Given the description of an element on the screen output the (x, y) to click on. 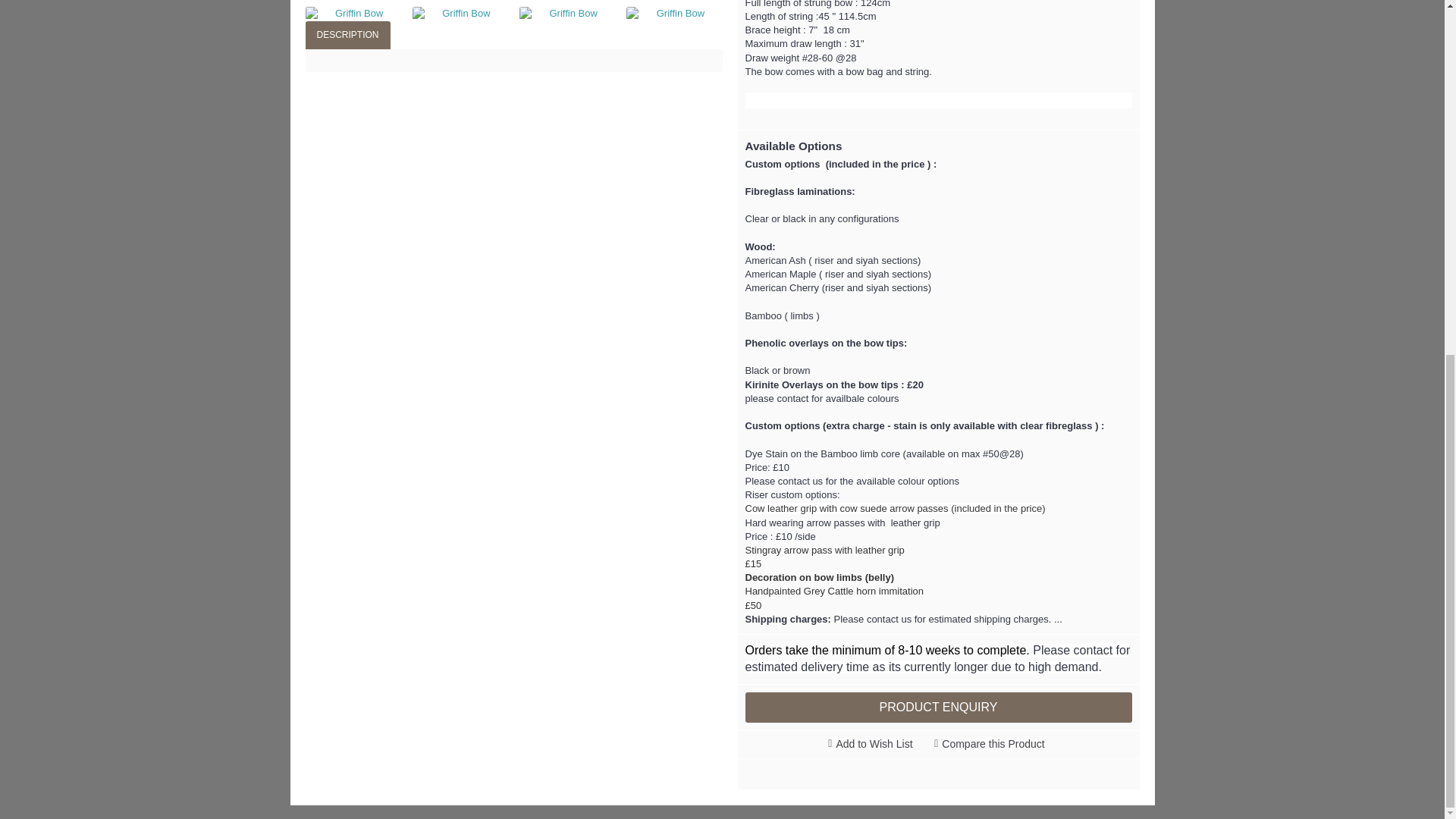
Griffin Bow (566, 13)
Griffin Bow (352, 13)
Griffin Bow (674, 13)
Griffin Bow (460, 13)
